Given the description of an element on the screen output the (x, y) to click on. 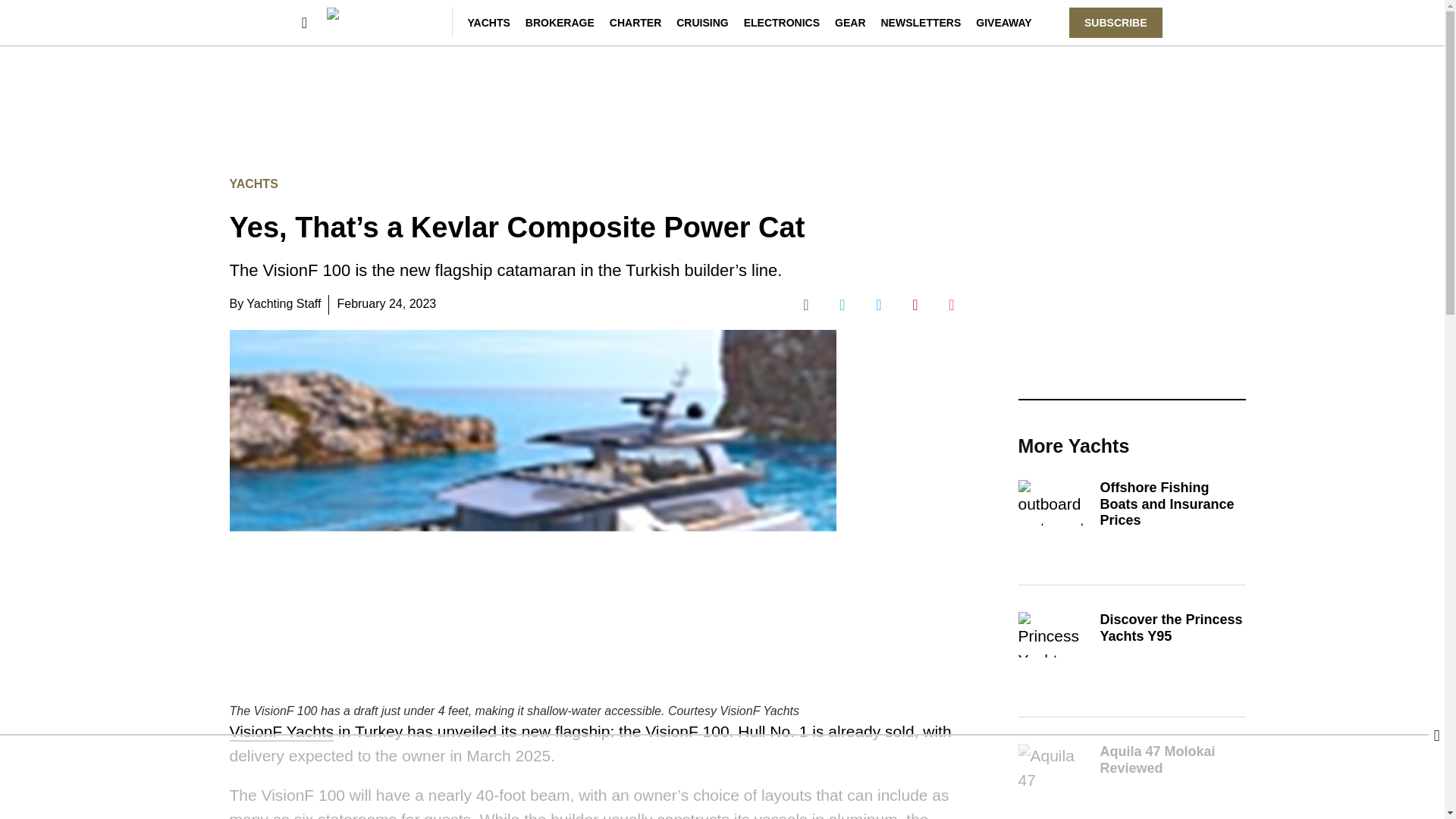
NEWSLETTERS (920, 22)
GEAR (849, 22)
ELECTRONICS (781, 22)
CHARTER (635, 22)
CRUISING (702, 22)
YACHTS (488, 22)
BROKERAGE (559, 22)
GIVEAWAY (1002, 22)
